Given the description of an element on the screen output the (x, y) to click on. 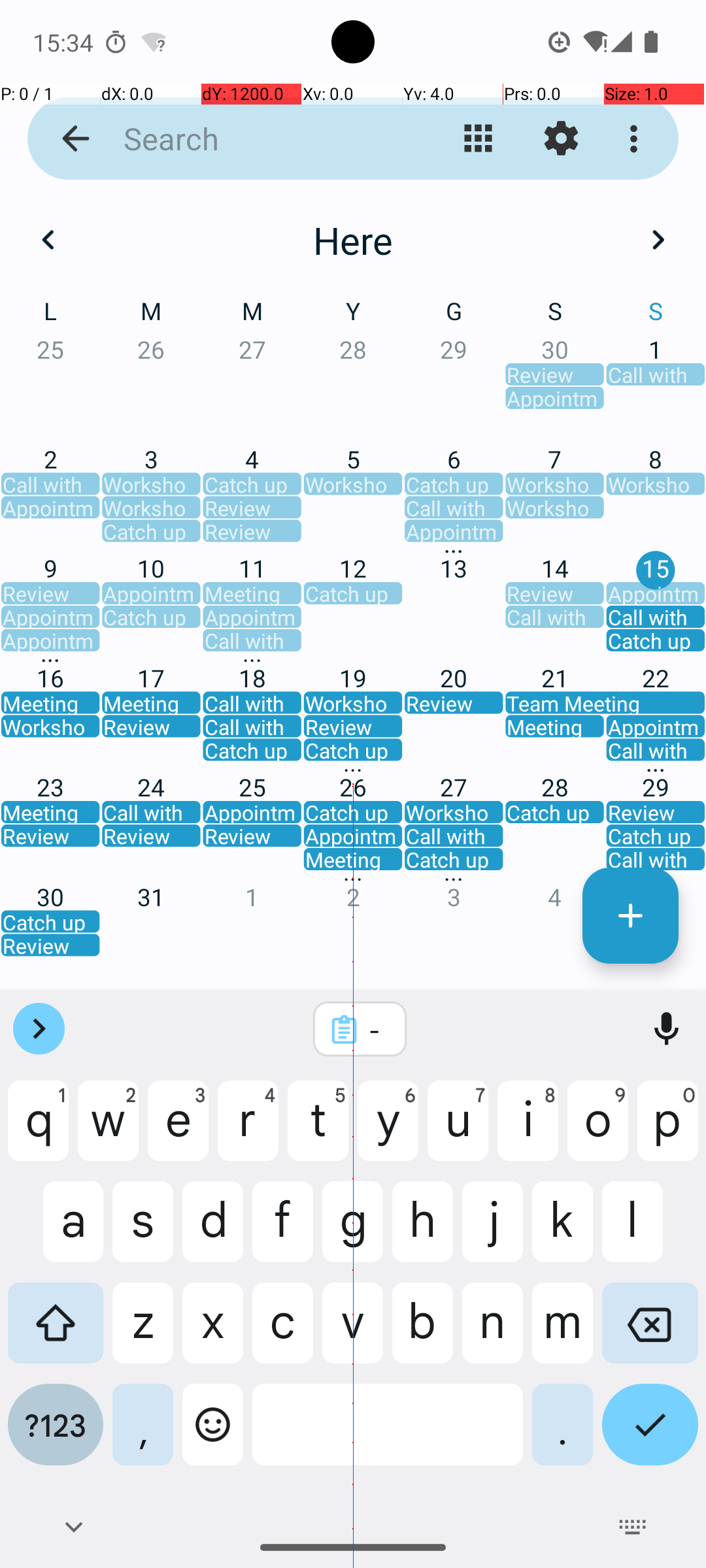
Kemmañ ar gwel Element type: android.widget.Button (477, 138)
Darvoud nevez Element type: android.widget.ImageButton (630, 915)
Here Element type: android.widget.TextView (352, 239)
